Given the description of an element on the screen output the (x, y) to click on. 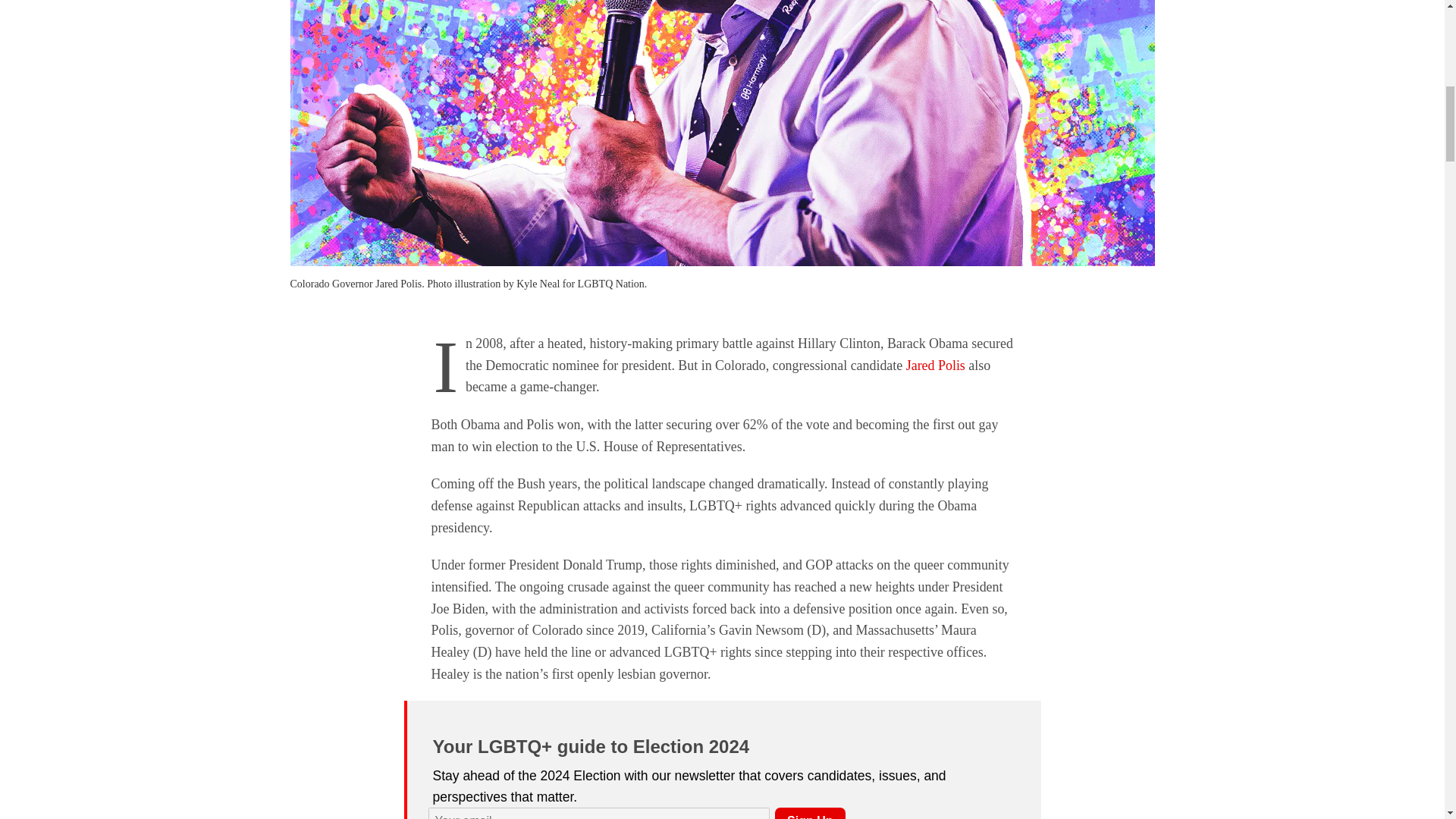
Sign Up (809, 813)
Jared Polis (935, 365)
Sign Up (809, 813)
